Given the description of an element on the screen output the (x, y) to click on. 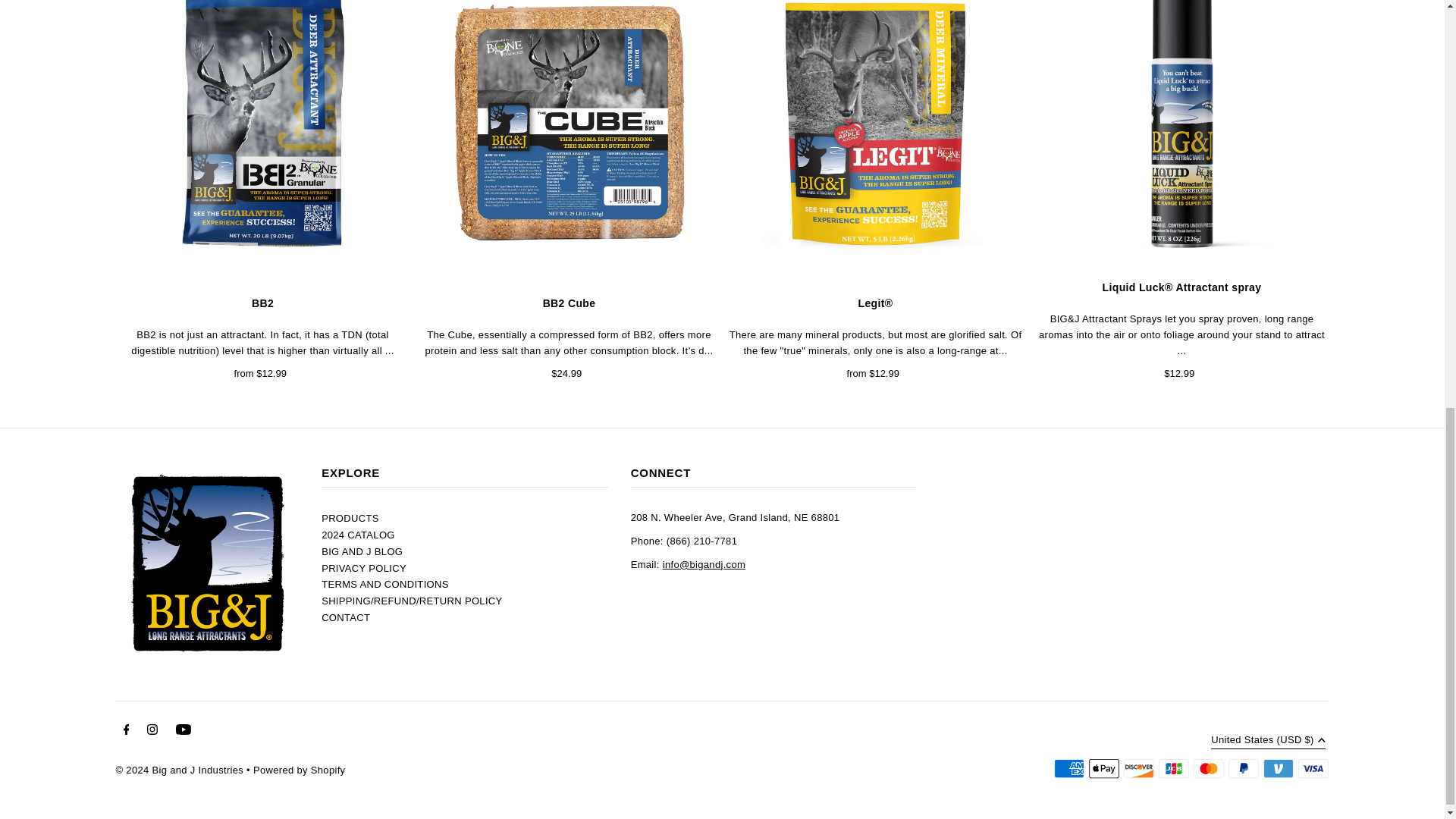
American Express (1069, 768)
PayPal (1243, 768)
Visa (1312, 768)
Discover (1139, 768)
Venmo (1278, 768)
BB2 (262, 135)
Apple Pay (1104, 768)
Mastercard (1208, 768)
JCB (1173, 768)
BB2 Cube (569, 135)
